Given the description of an element on the screen output the (x, y) to click on. 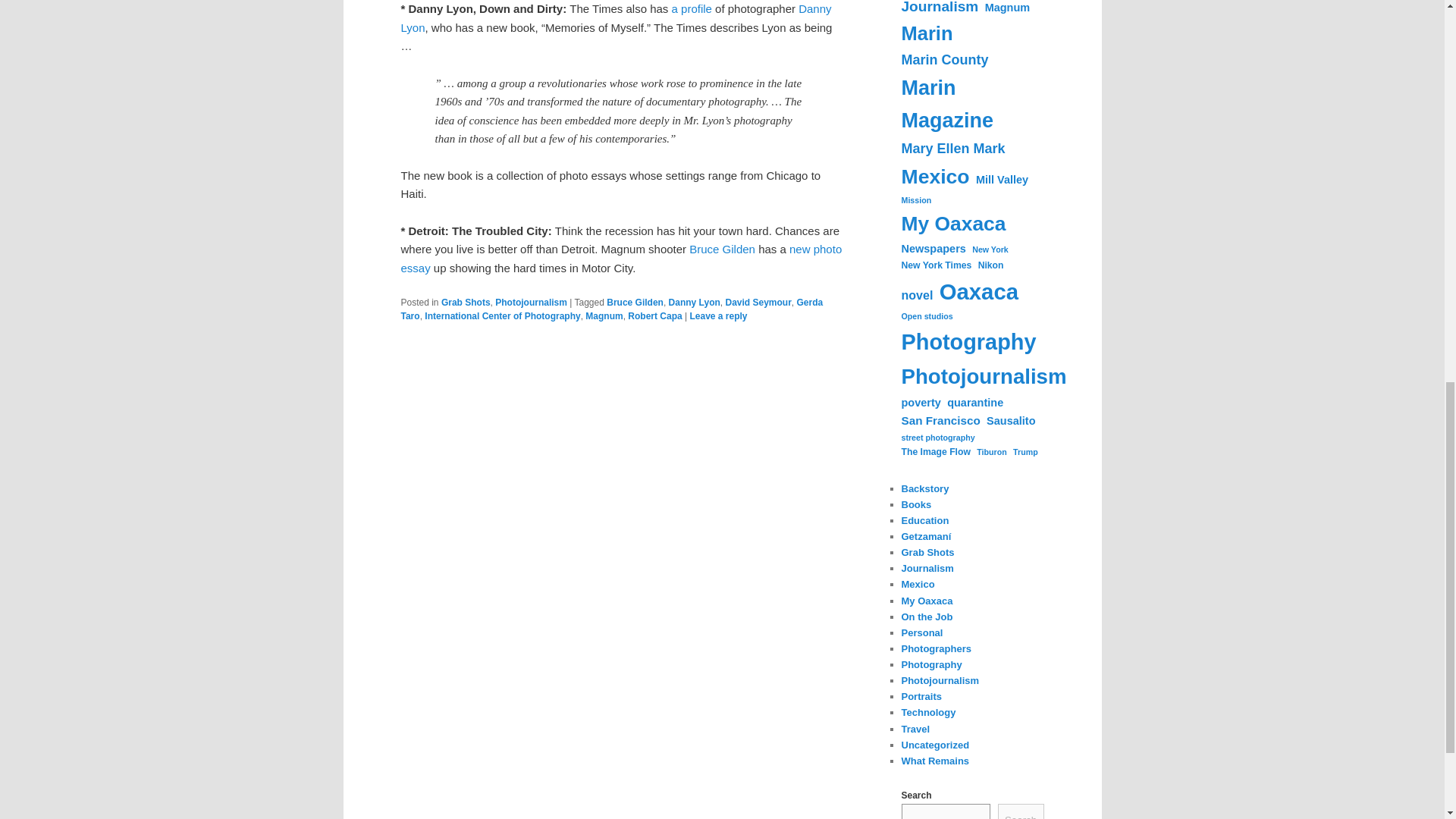
new photo essay (620, 257)
Leave a reply (717, 316)
Bruce Gilden (635, 302)
Grab Shots (465, 302)
Photojournalism (531, 302)
David Seymour (757, 302)
Danny Lyon (694, 302)
Robert Capa (654, 316)
a profile (691, 8)
Gerda Taro (611, 309)
